Given the description of an element on the screen output the (x, y) to click on. 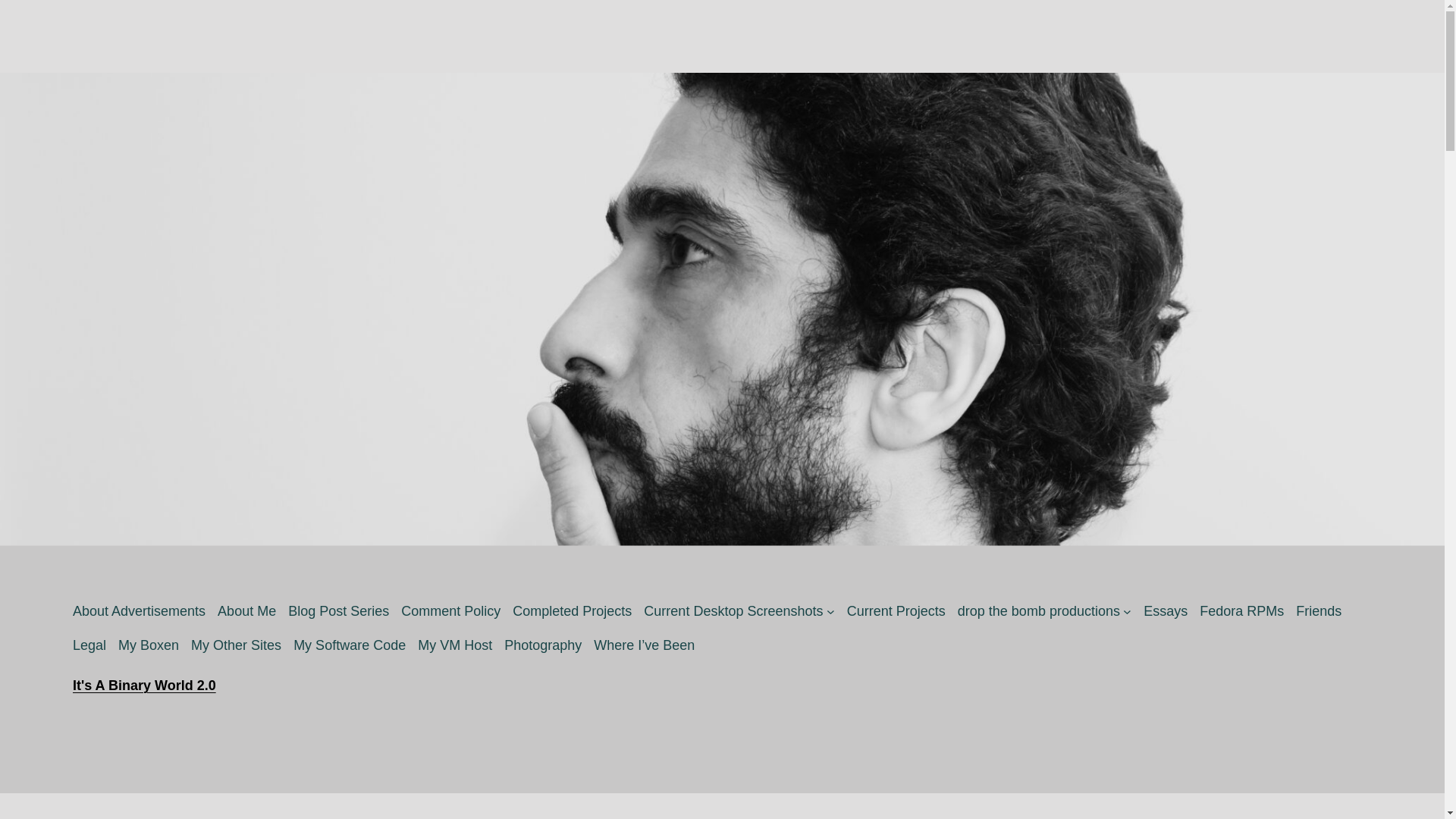
Essays (1165, 611)
Fedora RPMs (1241, 611)
Friends (1317, 611)
Completed Projects (571, 611)
Comment Policy (450, 611)
About Advertisements (138, 611)
Blog Post Series (338, 611)
drop the bomb productions (1038, 611)
About Me (246, 611)
Current Projects (895, 611)
